Given the description of an element on the screen output the (x, y) to click on. 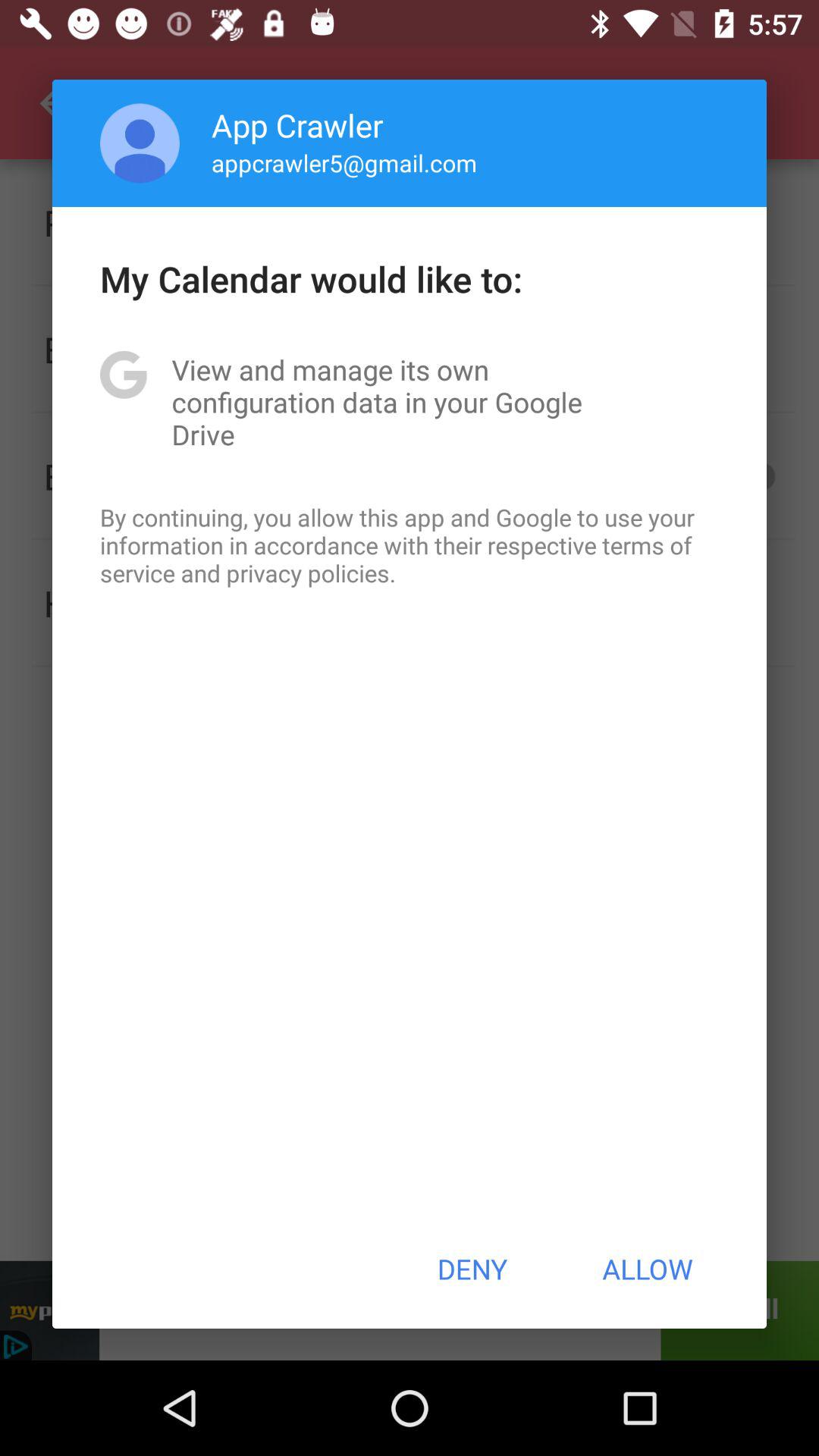
choose item below the app crawler item (344, 162)
